Given the description of an element on the screen output the (x, y) to click on. 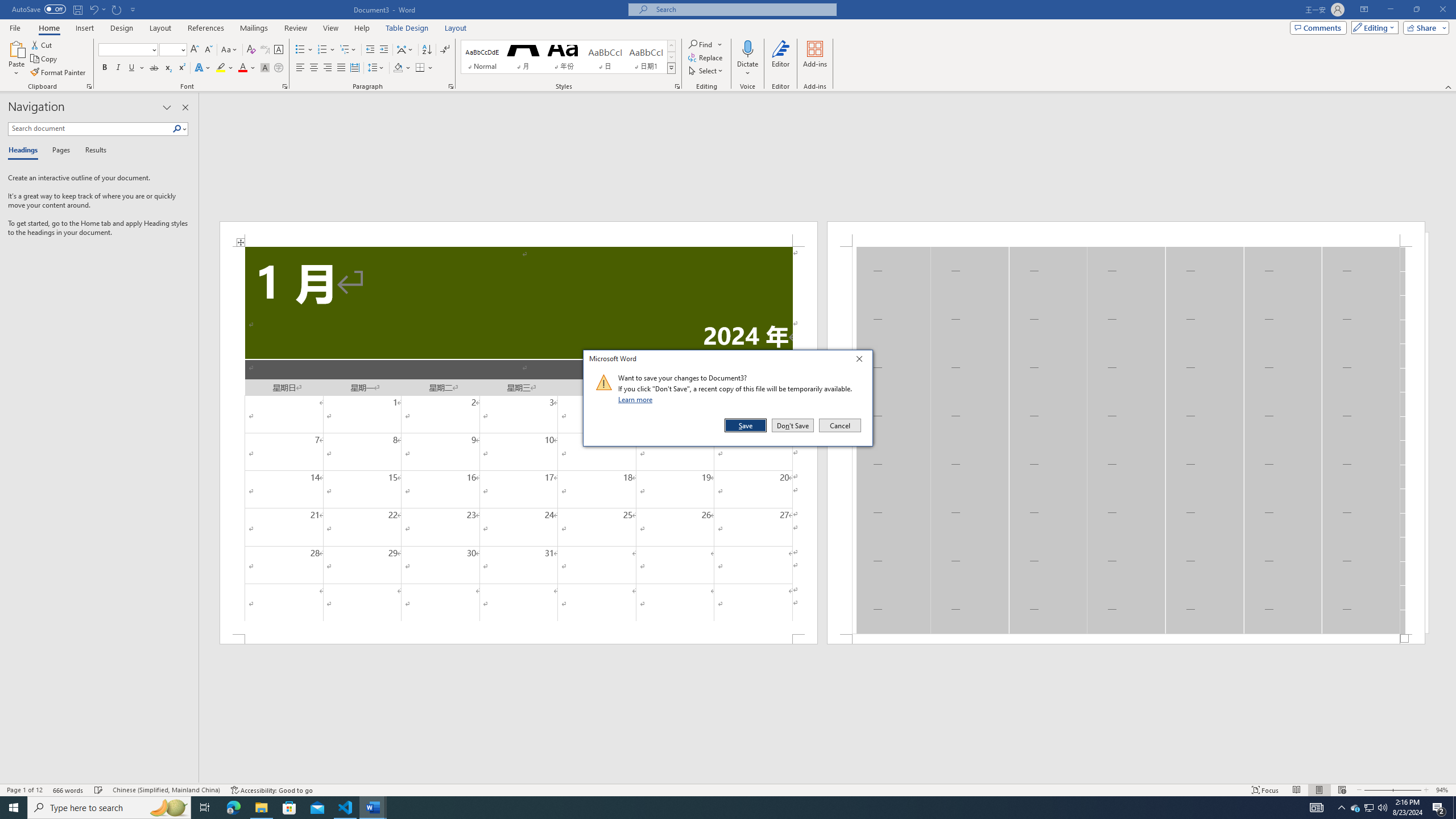
Show desktop (1368, 807)
AutomationID: 4105 (1454, 807)
